Given the description of an element on the screen output the (x, y) to click on. 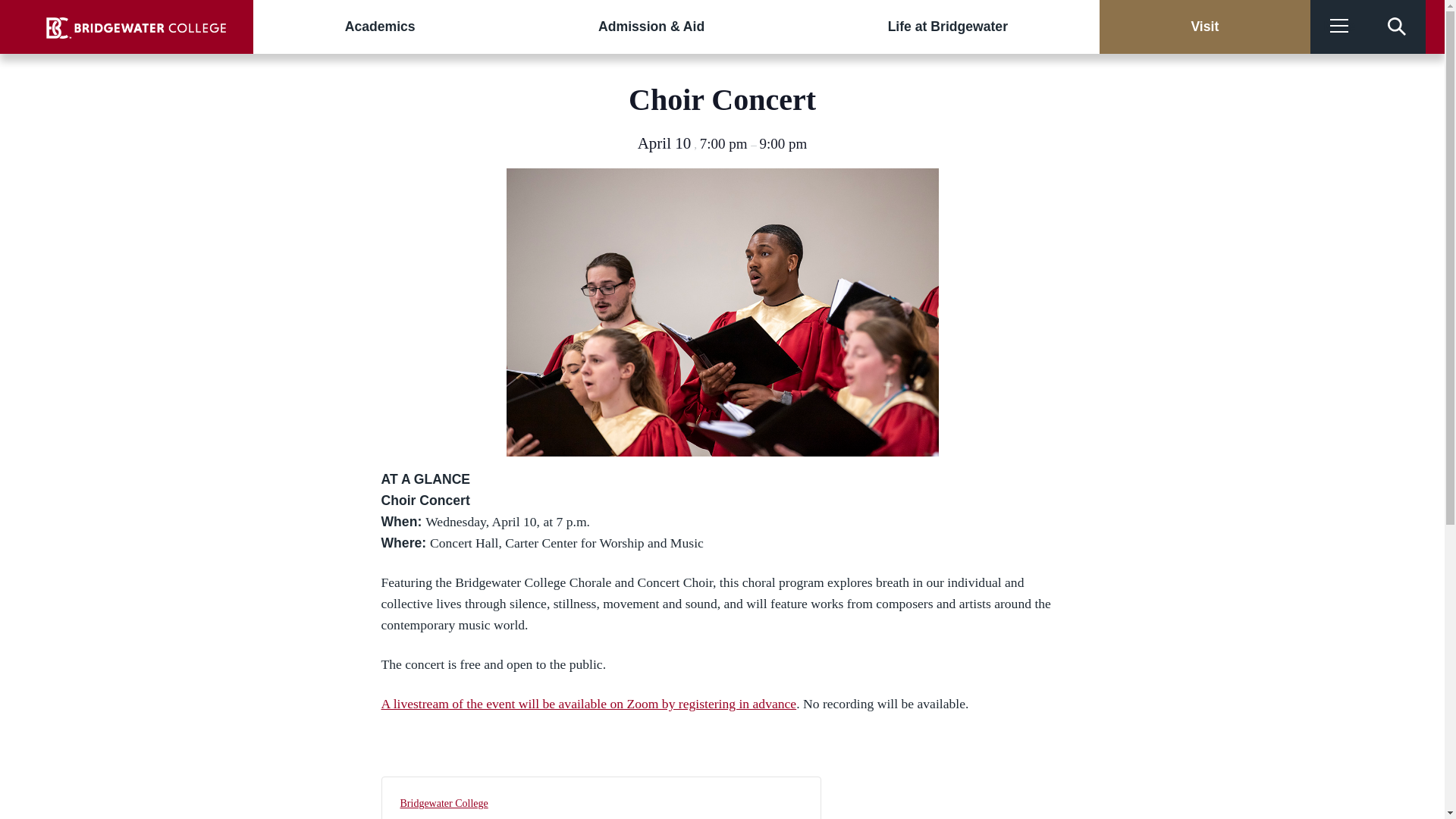
More (1339, 27)
Visit (1204, 27)
Bridgewater College (443, 803)
Academics (379, 27)
Life at Bridgewater (947, 27)
More (1339, 27)
Life at Bridgewater (947, 27)
Visit (1204, 27)
home (135, 27)
